Given the description of an element on the screen output the (x, y) to click on. 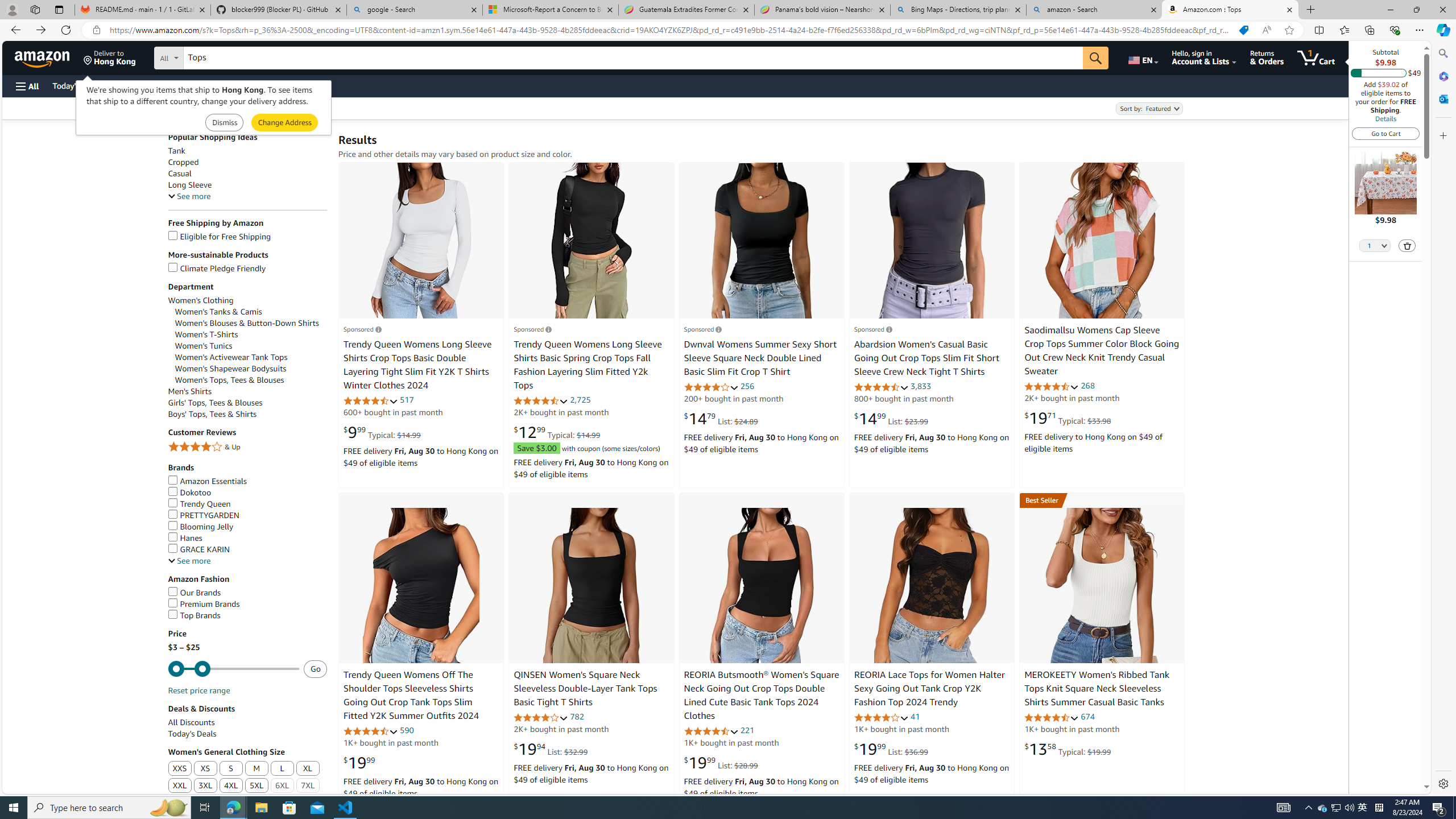
Women's Blouses & Button-Down Shirts (246, 322)
L (282, 769)
Girls' Tops, Tees & Blouses (247, 402)
Dokotoo (247, 492)
Women's Blouses & Button-Down Shirts (250, 323)
L (282, 768)
3XL (205, 786)
$14.99 List: $23.99 (890, 418)
Delete (1407, 245)
6XL (282, 785)
